Given the description of an element on the screen output the (x, y) to click on. 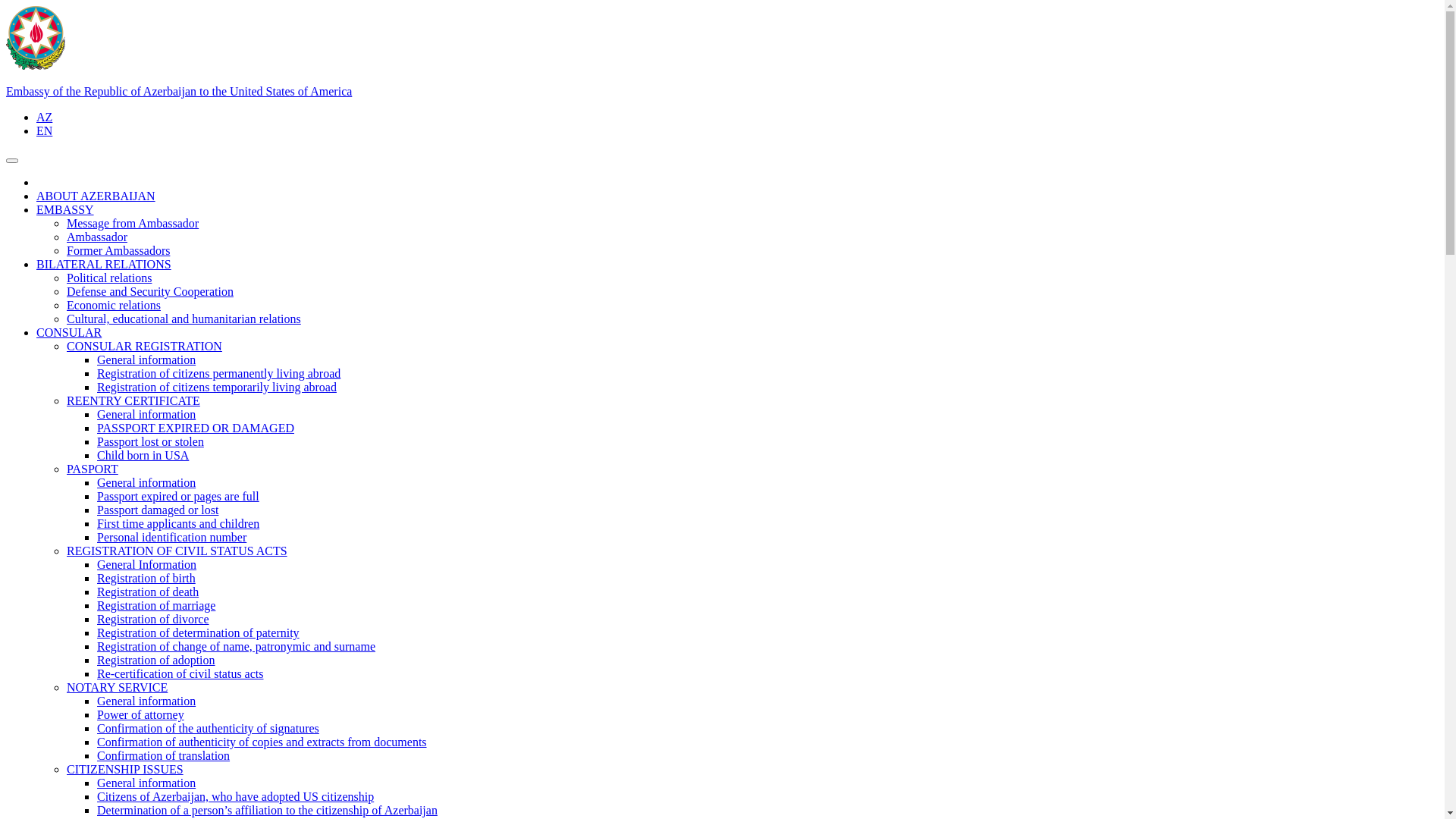
PASPORT Element type: text (92, 468)
Passport damaged or lost Element type: text (157, 509)
Economic relations Element type: text (113, 304)
Registration of determination of paternity Element type: text (198, 632)
Defense and Security Cooperation Element type: text (149, 291)
Registration of marriage Element type: text (156, 605)
ABOUT AZERBAIJAN Element type: text (95, 195)
CONSULAR REGISTRATION Element type: text (144, 345)
Registration of citizens temporarily living abroad Element type: text (216, 386)
Former Ambassadors Element type: text (117, 250)
Confirmation of the authenticity of signatures Element type: text (208, 727)
Power of attorney Element type: text (140, 714)
General information Element type: text (146, 359)
General Information Element type: text (146, 564)
REGISTRATION OF CIVIL STATUS ACTS Element type: text (176, 550)
Citizens of Azerbaijan, who have adopted US citizenship Element type: text (235, 796)
General information Element type: text (146, 413)
General information Element type: text (146, 782)
Registration of death Element type: text (147, 591)
AZ Element type: text (44, 116)
Registration of citizens permanently living abroad Element type: text (218, 373)
EMBASSY Element type: text (65, 209)
PASSPORT EXPIRED OR DAMAGED Element type: text (195, 427)
CONSULAR Element type: text (68, 332)
General information Element type: text (146, 482)
First time applicants and children Element type: text (178, 523)
Political relations Element type: text (108, 277)
General information Element type: text (146, 700)
REENTRY CERTIFICATE Element type: text (133, 400)
Registration of adoption Element type: text (156, 659)
Cultural, educational and humanitarian relations Element type: text (183, 318)
Registration of divorce Element type: text (153, 618)
Passport lost or stolen Element type: text (150, 441)
Re-certification of civil status acts Element type: text (180, 673)
EN Element type: text (44, 130)
Message from Ambassador Element type: text (132, 222)
Passport expired or pages are full Element type: text (178, 495)
CITIZENSHIP ISSUES Element type: text (124, 768)
BILATERAL RELATIONS Element type: text (103, 263)
Child born in USA Element type: text (142, 454)
Registration of change of name, patronymic and surname Element type: text (236, 646)
NOTARY SERVICE Element type: text (116, 686)
Registration of birth Element type: text (146, 577)
Personal identification number Element type: text (171, 536)
Confirmation of translation Element type: text (163, 755)
Ambassador Element type: text (96, 236)
